Given the description of an element on the screen output the (x, y) to click on. 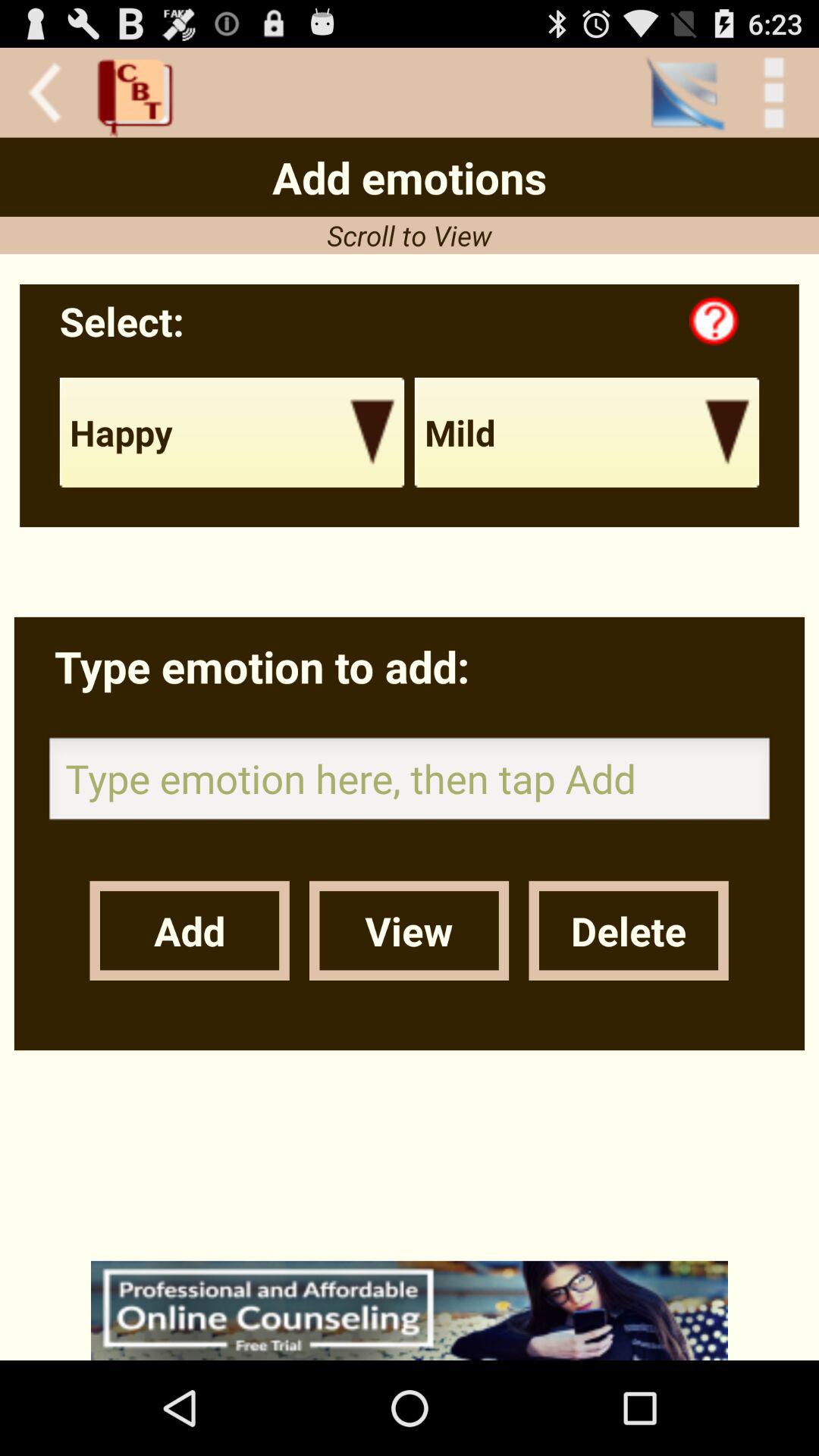
type emotion word to add (409, 782)
